Given the description of an element on the screen output the (x, y) to click on. 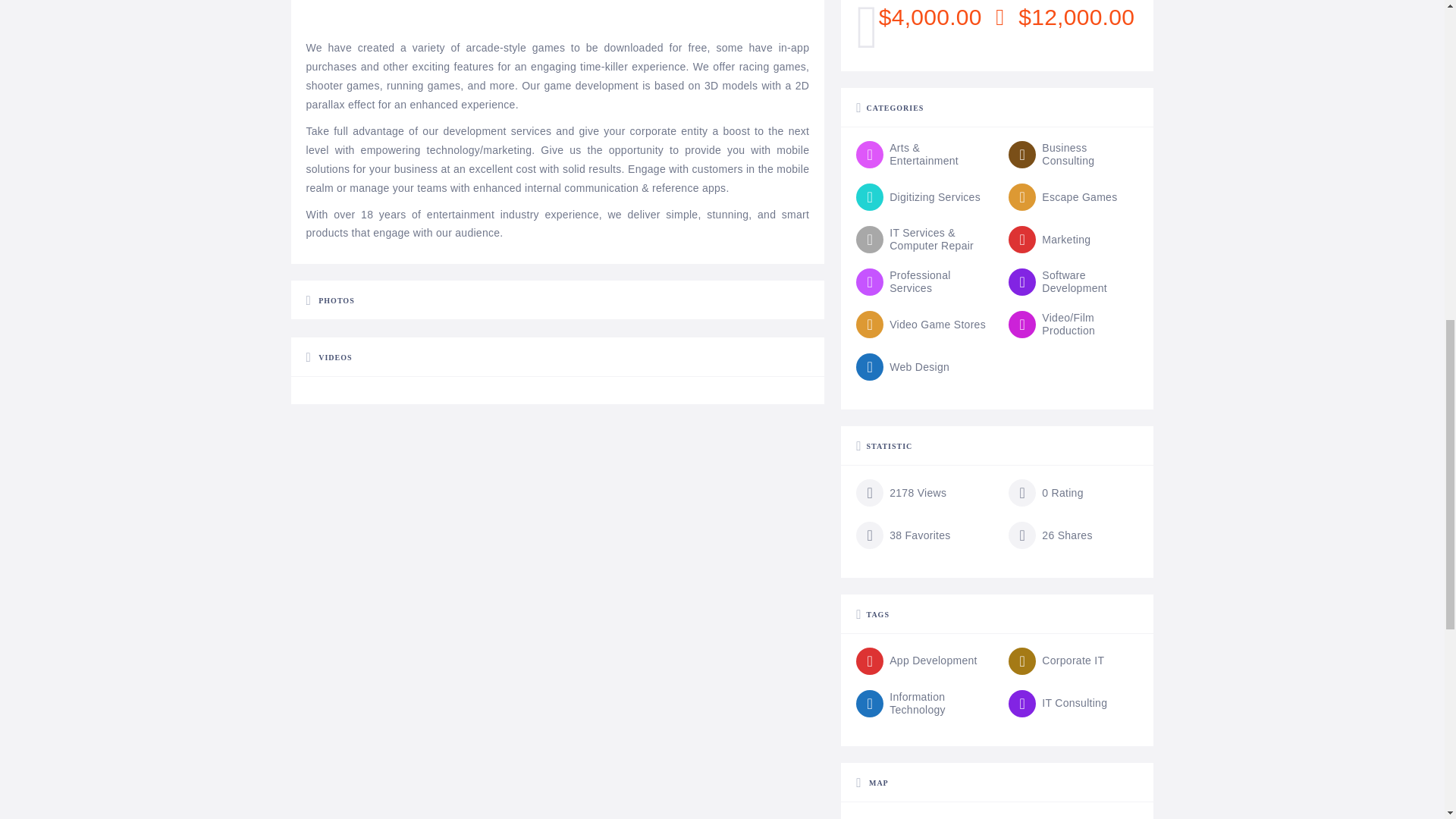
Business Consulting (1073, 154)
Escape Games (1062, 196)
App Development (916, 660)
Marketing (1049, 239)
Software Development (1073, 281)
Information Technology (920, 703)
IT Consulting (1057, 703)
Video Game Stores (920, 324)
Professional Services (920, 281)
Digitizing Services (917, 196)
